Given the description of an element on the screen output the (x, y) to click on. 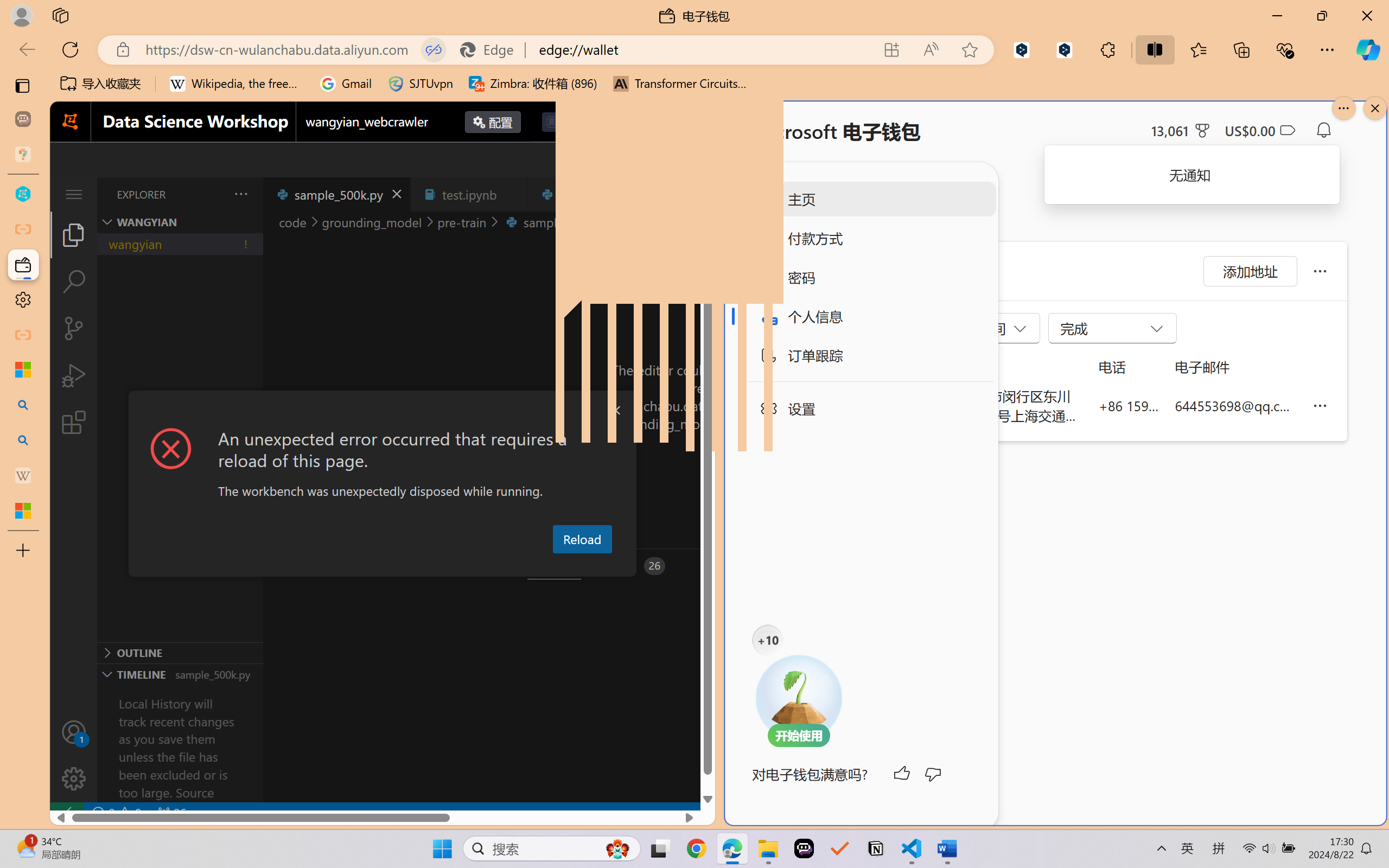
Class: ___1lmltc5 f1agt3bx f12qytpq (1286, 130)
main.py (717, 194)
Run and Debug (Ctrl+Shift+D) (73, 375)
